Given the description of an element on the screen output the (x, y) to click on. 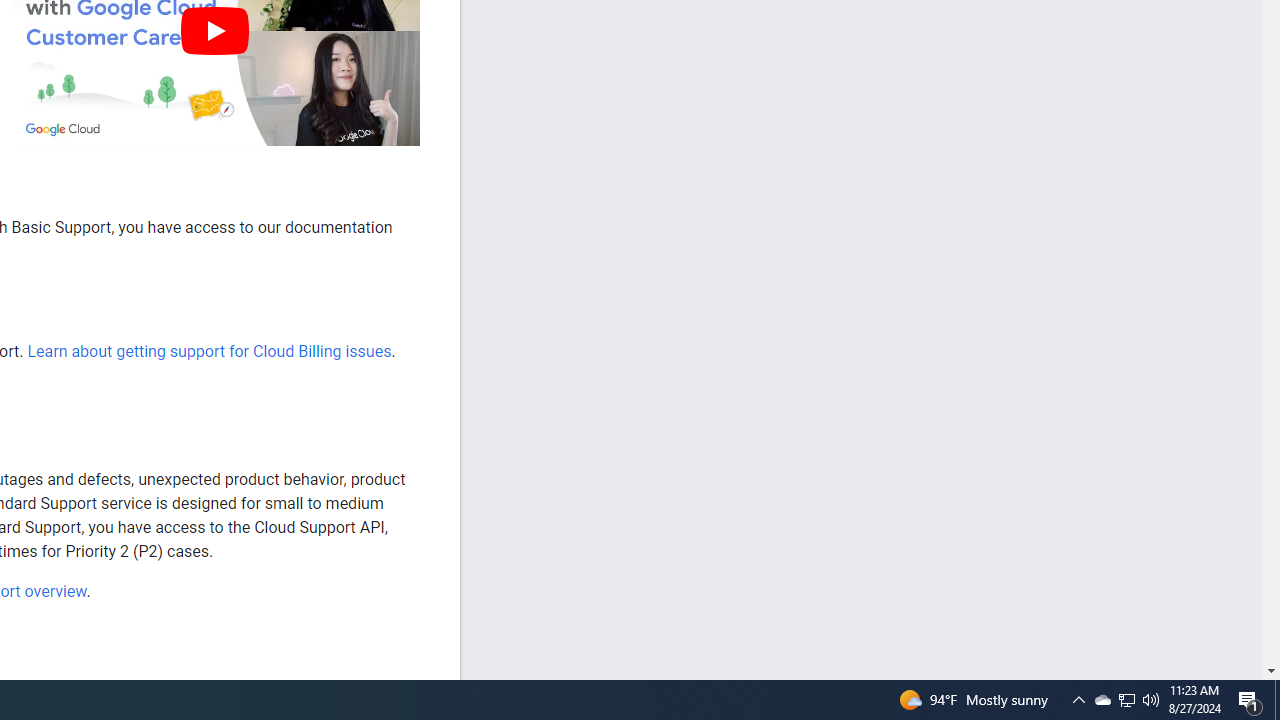
Play (214, 29)
Learn about getting support for Cloud Billing issues (208, 351)
